Given the description of an element on the screen output the (x, y) to click on. 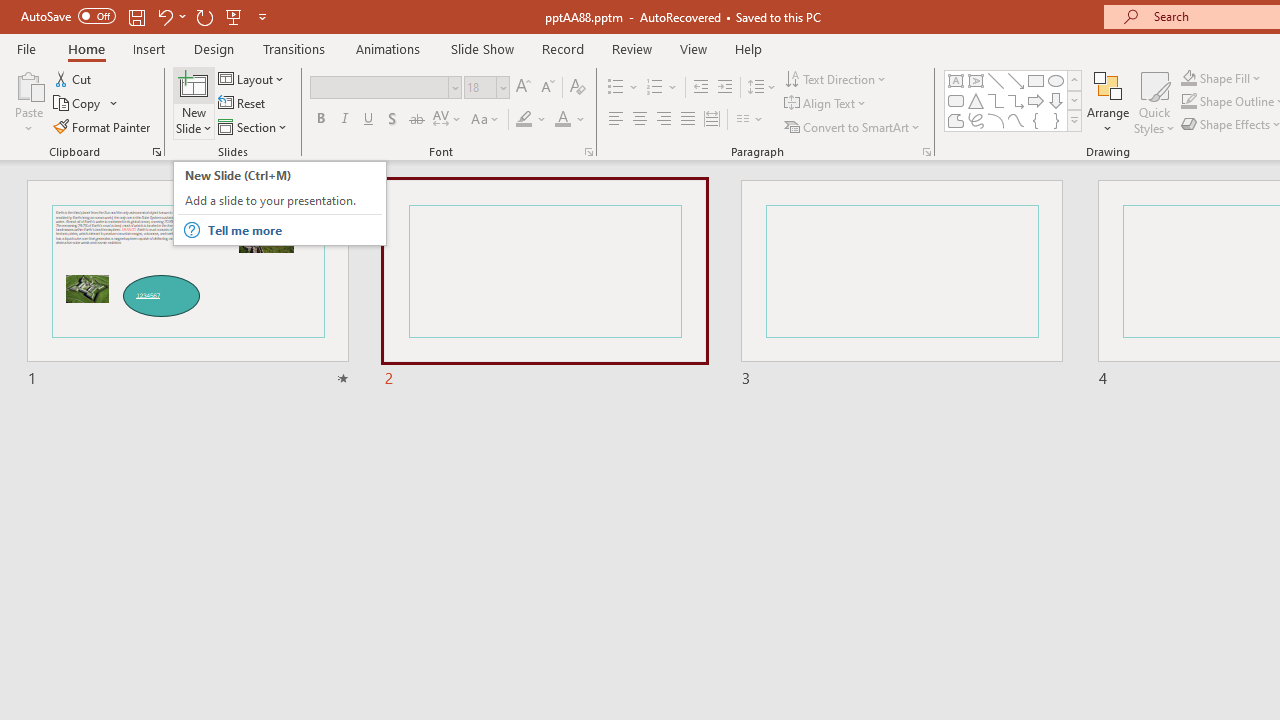
Right Brace (1055, 120)
Format Painter (103, 126)
Line (995, 80)
Save (136, 15)
Copy (78, 103)
Freeform: Scribble (975, 120)
Shadow (392, 119)
Animations (388, 48)
Isosceles Triangle (975, 100)
Text Highlight Color Yellow (524, 119)
Align Left (616, 119)
Slide (901, 284)
Help (748, 48)
AutomationID: ShapesInsertGallery (1014, 100)
Line Arrow (1016, 80)
